Given the description of an element on the screen output the (x, y) to click on. 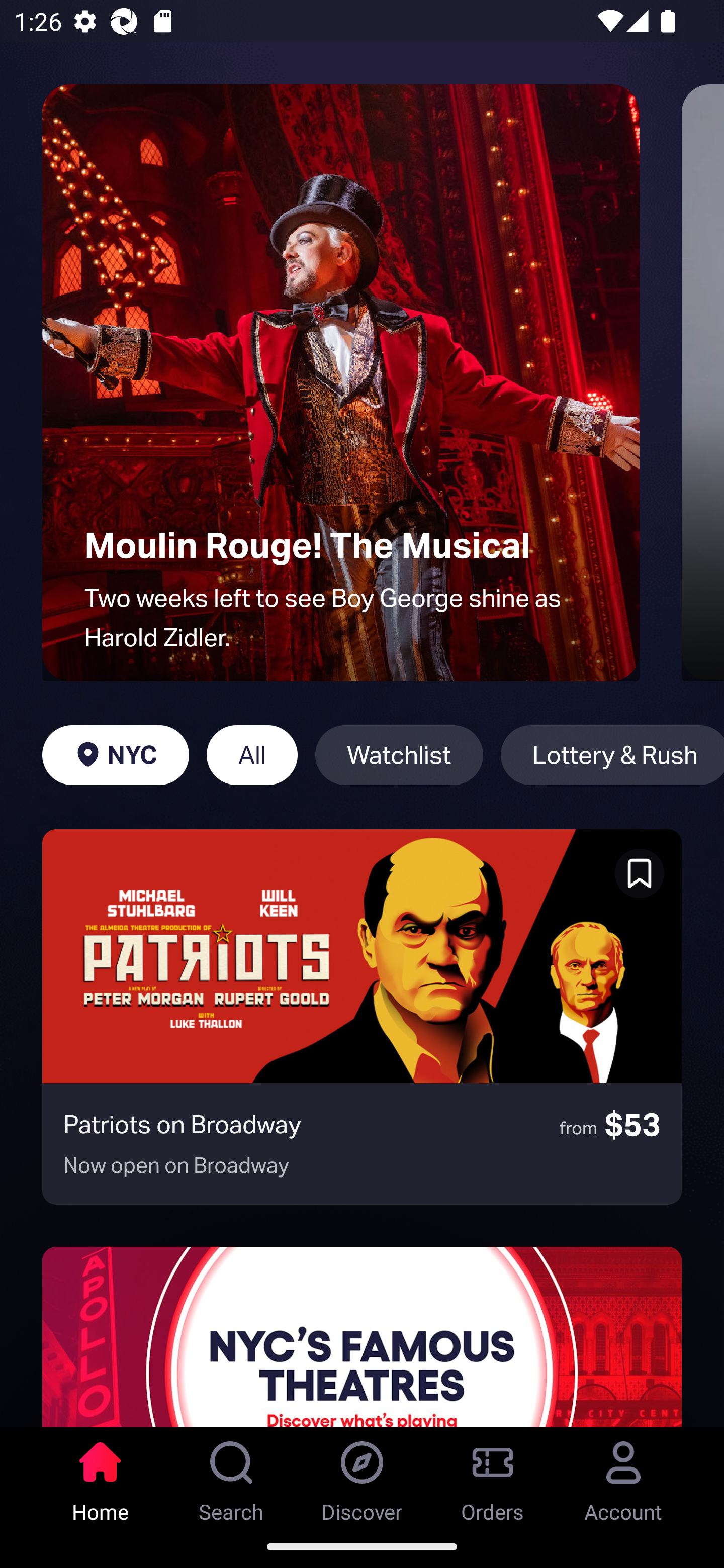
NYC (114, 754)
All (251, 754)
Watchlist (398, 754)
Lottery & Rush (612, 754)
Patriots on Broadway from $53 Now open on Broadway (361, 1016)
Search (230, 1475)
Discover (361, 1475)
Orders (492, 1475)
Account (623, 1475)
